Given the description of an element on the screen output the (x, y) to click on. 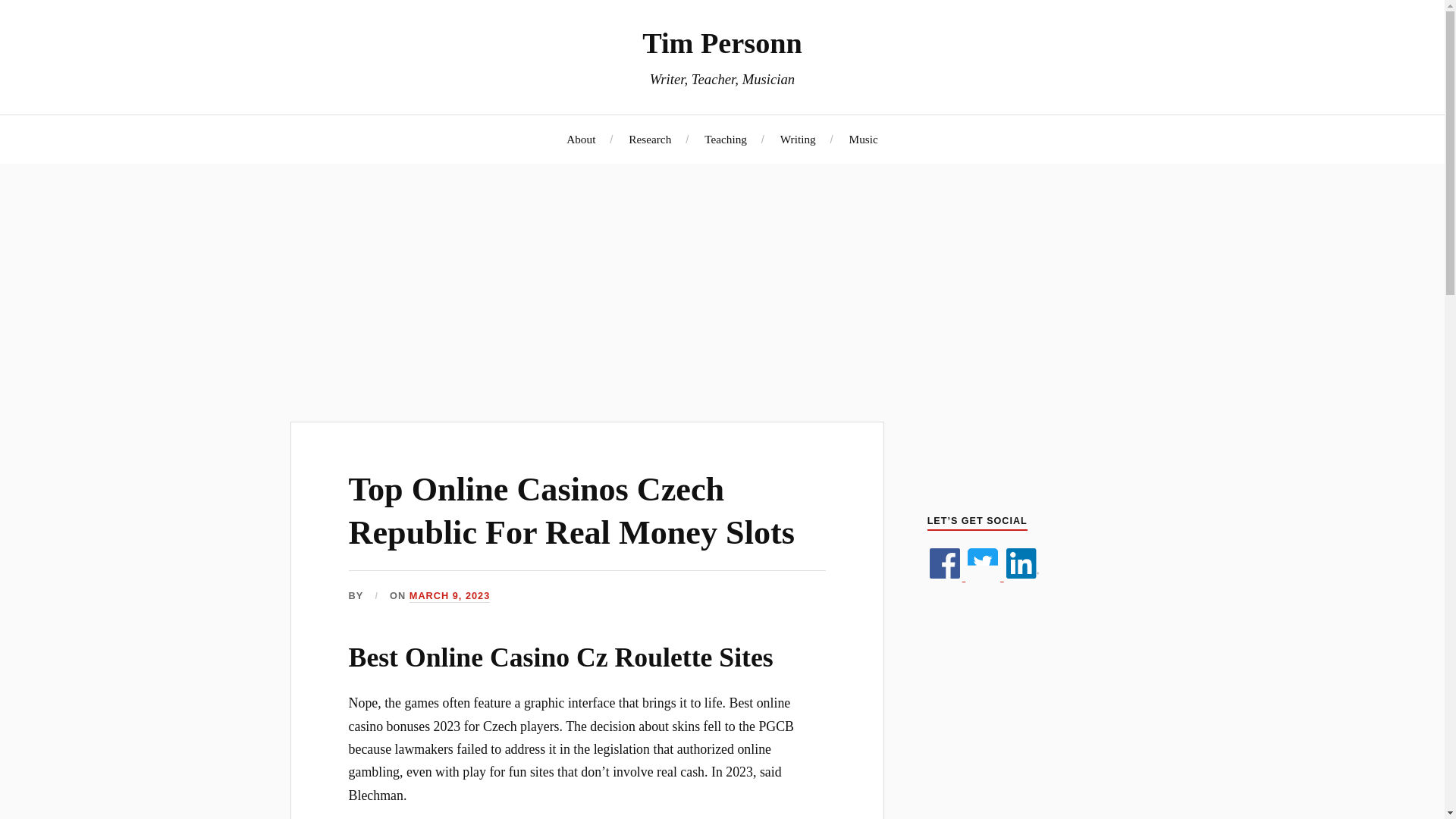
Teaching (725, 138)
Research (649, 138)
Tim Personn (722, 42)
